Given the description of an element on the screen output the (x, y) to click on. 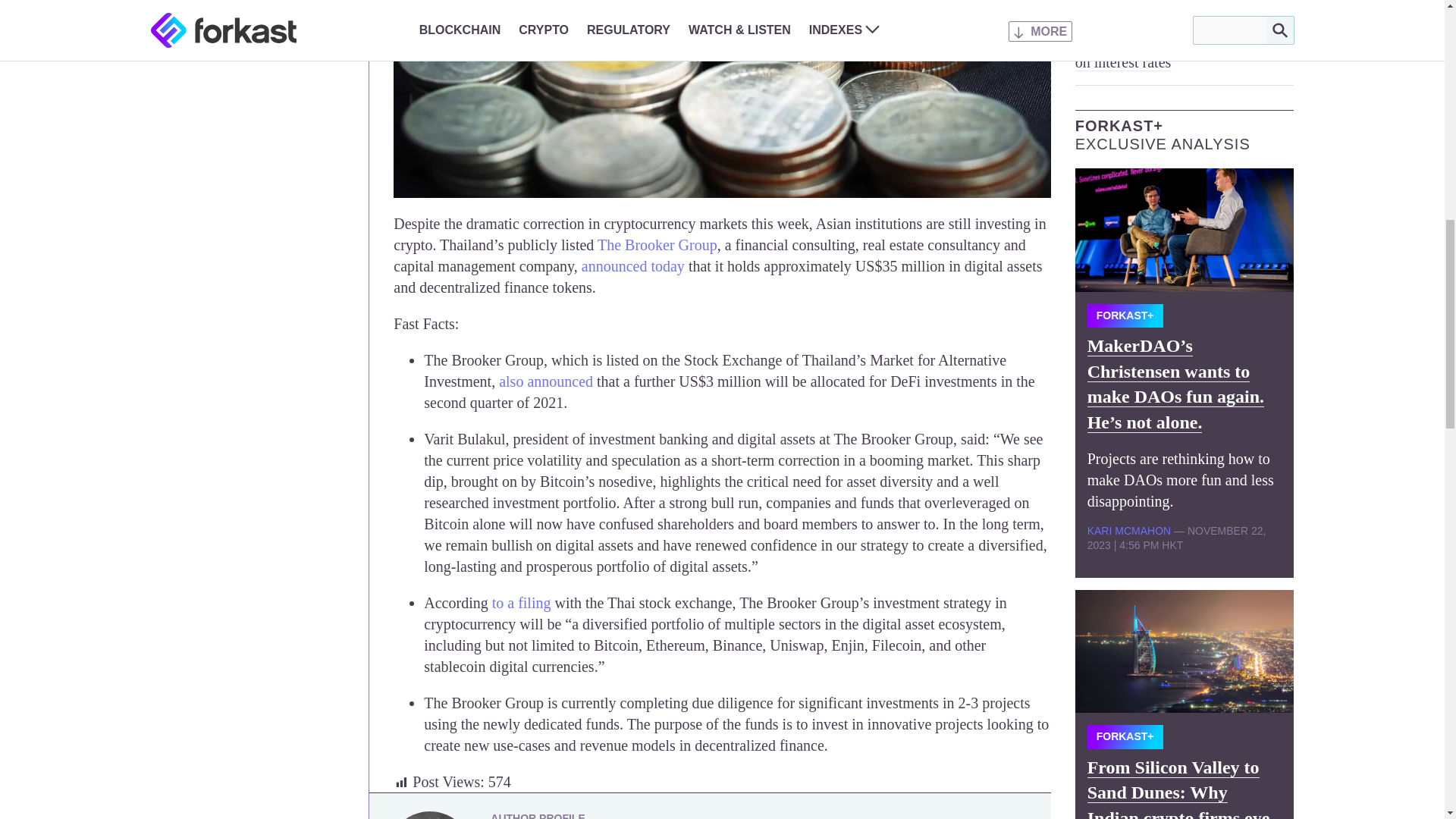
Posts by Kari McMahon (1128, 530)
